Given the description of an element on the screen output the (x, y) to click on. 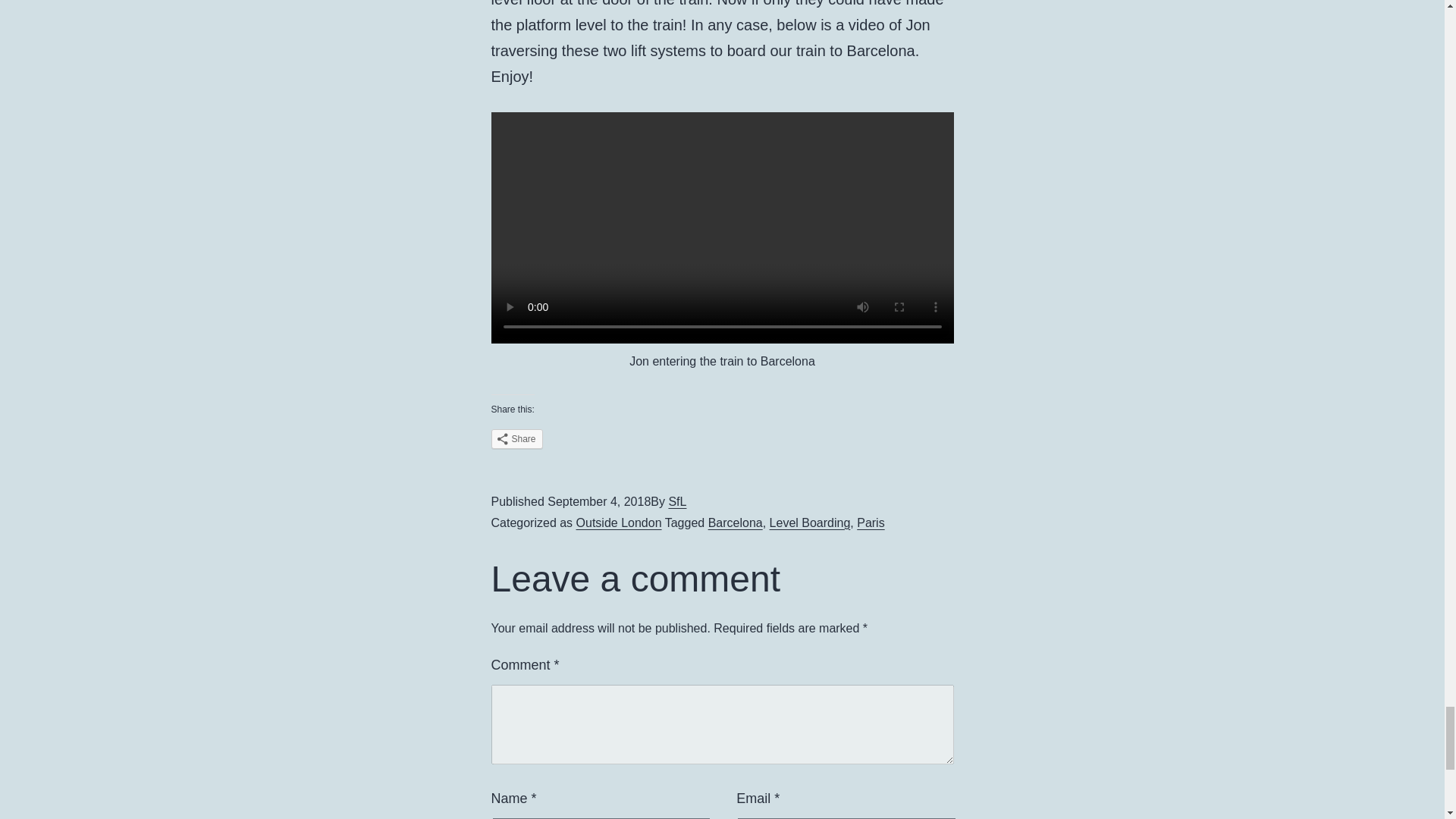
SfL (676, 501)
Outside London (619, 522)
Share (517, 438)
Barcelona (734, 522)
